Given the description of an element on the screen output the (x, y) to click on. 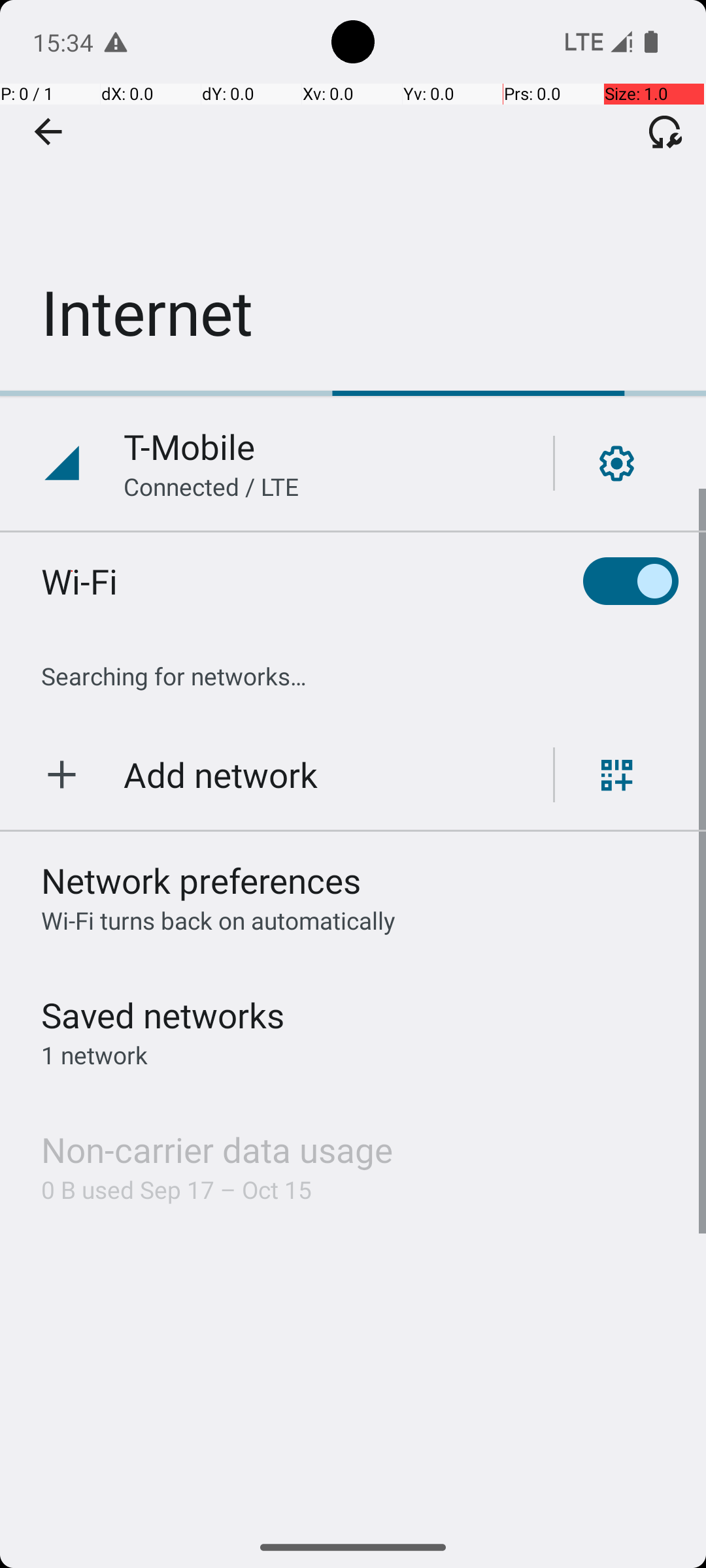
Internet Element type: android.widget.FrameLayout (353, 195)
Fix connectivity Element type: android.widget.TextView (664, 131)
T-Mobile Element type: android.widget.TextView (188, 446)
Connected / LTE Element type: android.widget.TextView (211, 486)
Wi-Fi Element type: android.widget.TextView (79, 580)
Searching for networks… Element type: android.widget.TextView (173, 675)
Add network Element type: android.widget.TextView (220, 774)
Scan QR code Element type: android.widget.ImageButton (616, 774)
Network preferences Element type: android.widget.TextView (201, 880)
Wi‑Fi turns back on automatically Element type: android.widget.TextView (218, 919)
Saved networks Element type: android.widget.TextView (163, 1014)
1 network Element type: android.widget.TextView (94, 1054)
Non-carrier data usage Element type: android.widget.TextView (216, 1149)
0 B used Sep 17 – Oct 15 Element type: android.widget.TextView (176, 1189)
